Given the description of an element on the screen output the (x, y) to click on. 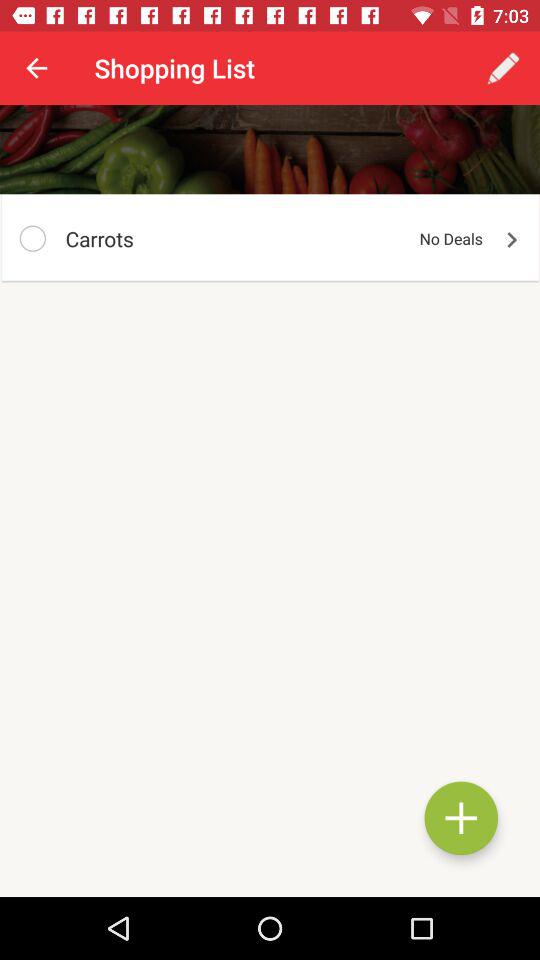
selects option (32, 238)
